Given the description of an element on the screen output the (x, y) to click on. 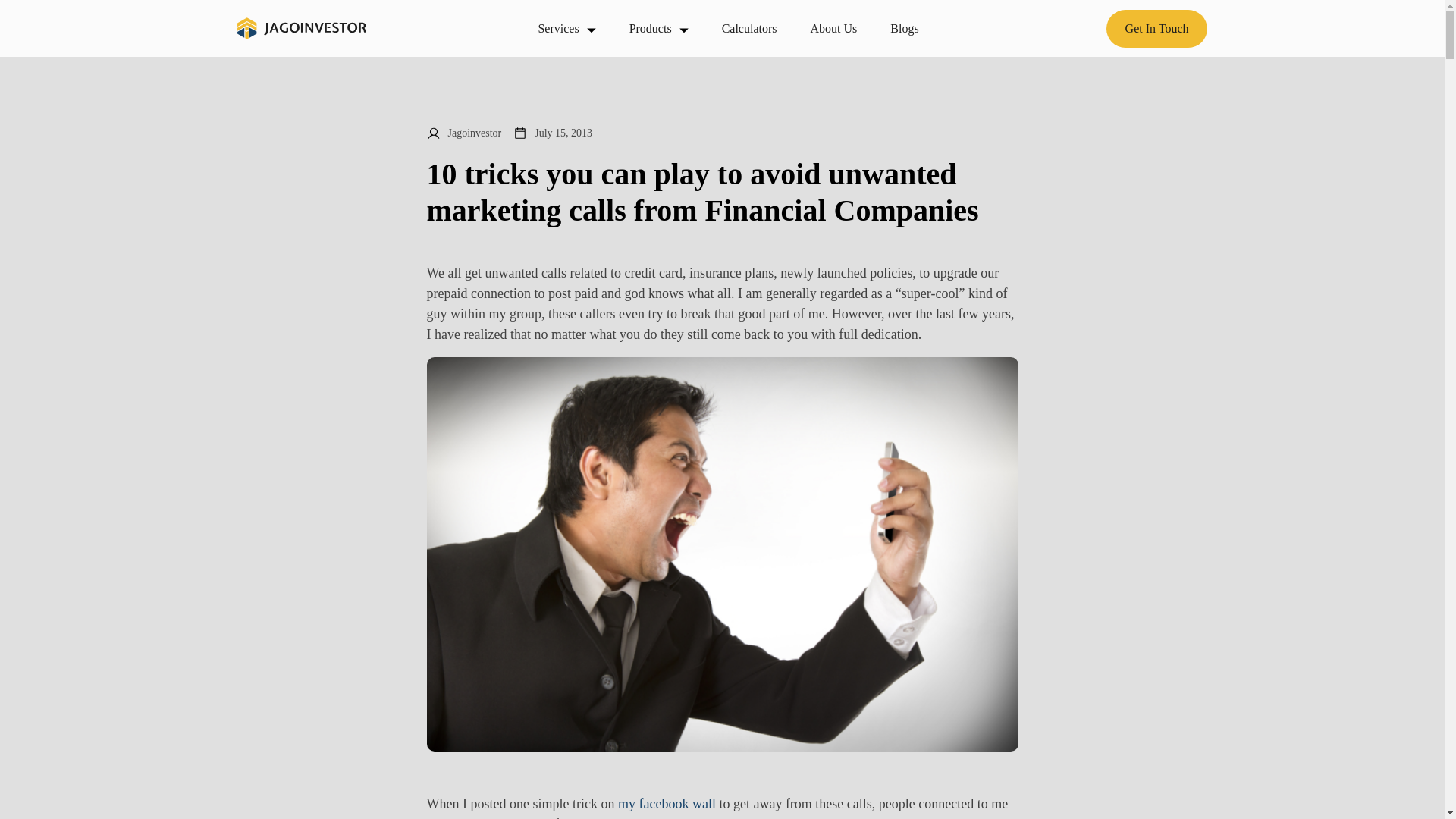
Services (566, 27)
Get In Touch (1157, 27)
Products (658, 27)
my facebook wall (666, 803)
About Us (833, 27)
Calculators (749, 27)
Blogs (903, 27)
